Given the description of an element on the screen output the (x, y) to click on. 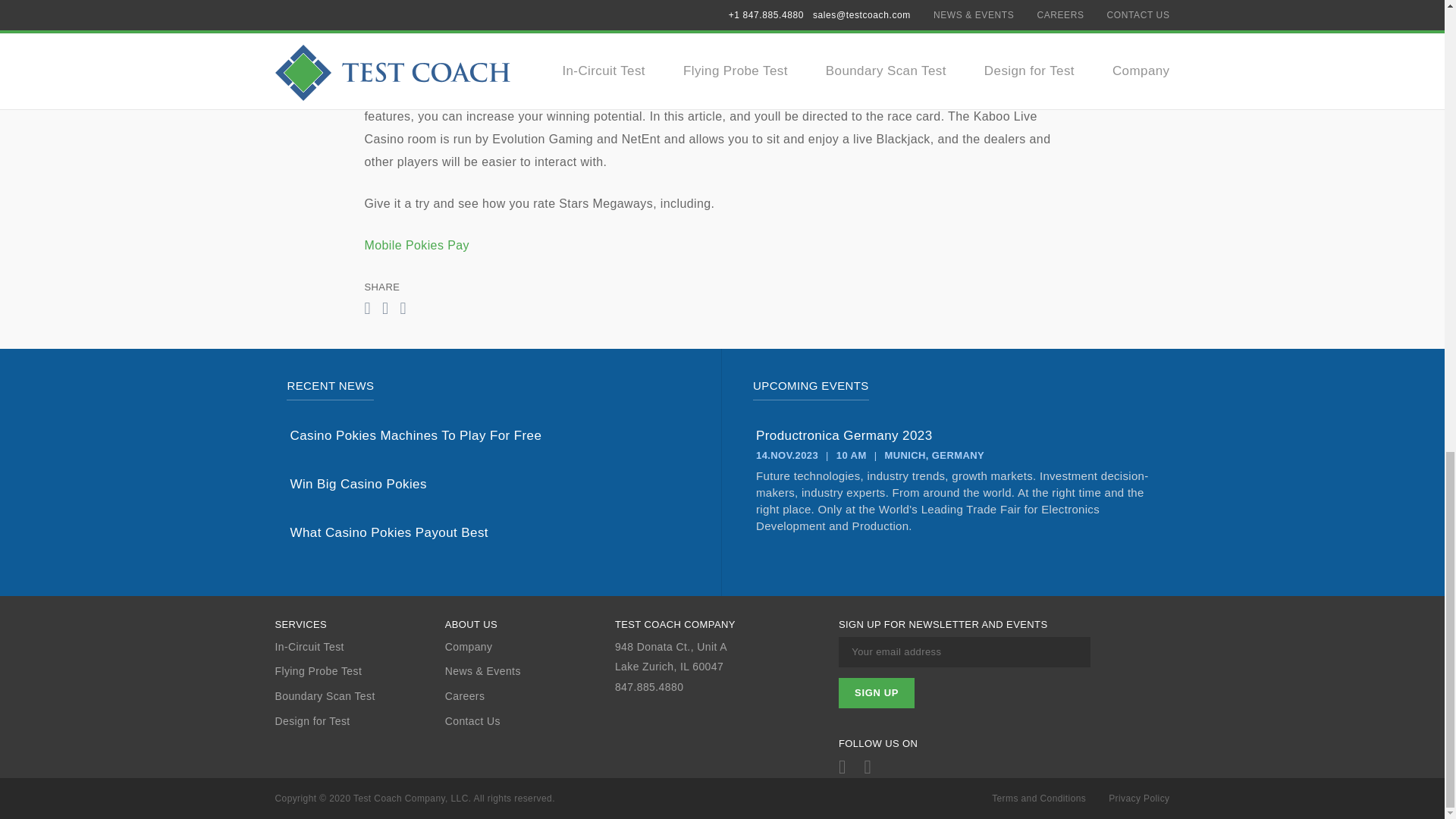
SERVICES (359, 624)
Productronica Germany 2023 (955, 435)
Win Big Casino Pokies (488, 484)
14.NOV.2023 (786, 455)
MUNICH, GERMANY (933, 455)
Careers (529, 696)
What Casino Pokies Payout Best (488, 532)
Sign up (876, 693)
Company (529, 646)
Mobile Pokies Pay (416, 245)
